Given the description of an element on the screen output the (x, y) to click on. 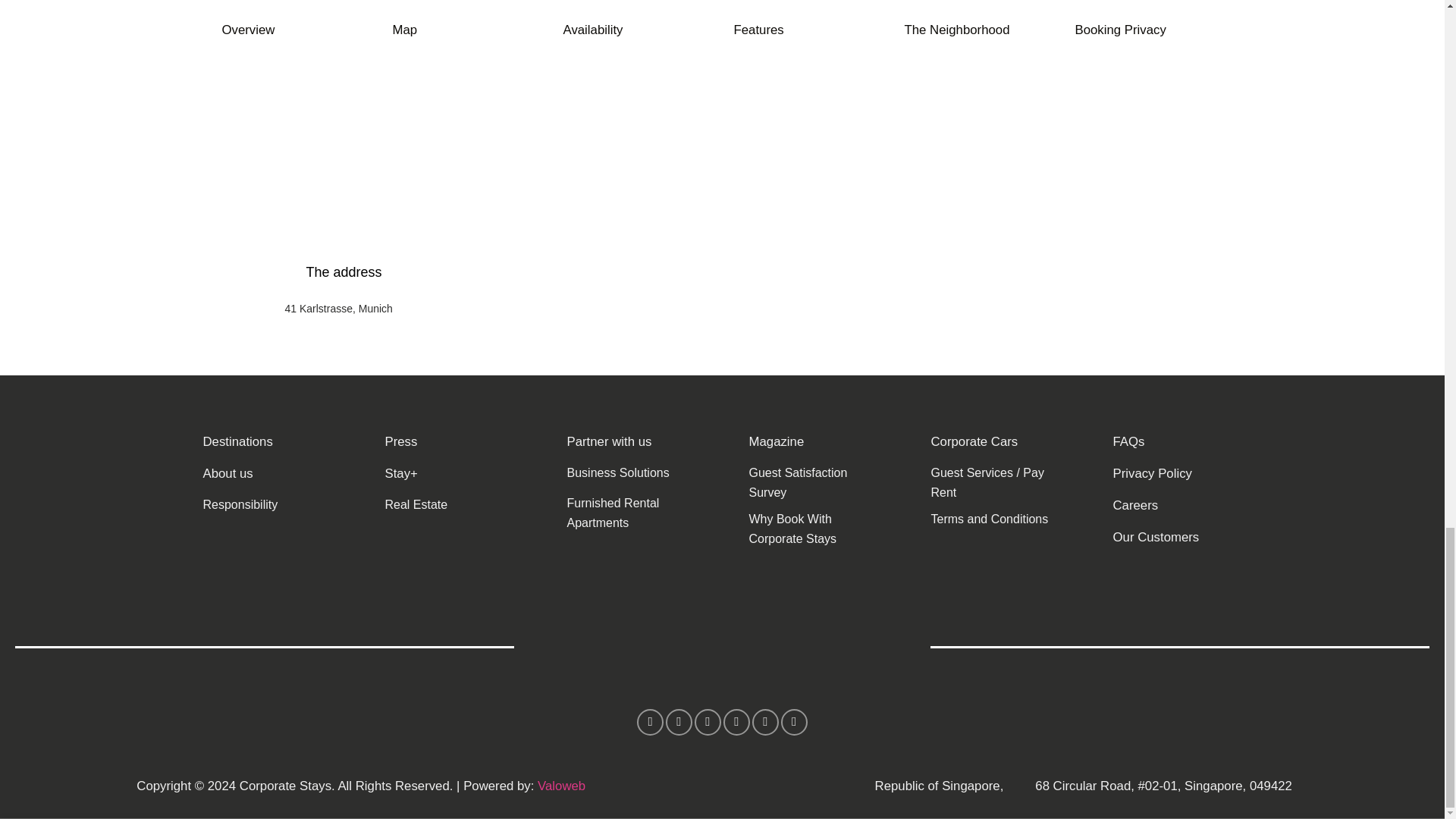
Follow on YouTube (794, 722)
Follow on Facebook (650, 722)
Follow on X (736, 722)
Follow on LinkedIn (765, 722)
Follow on Instagram (679, 722)
Follow on TikTok (707, 722)
41 Karlstrasse, Munich (339, 308)
